Given the description of an element on the screen output the (x, y) to click on. 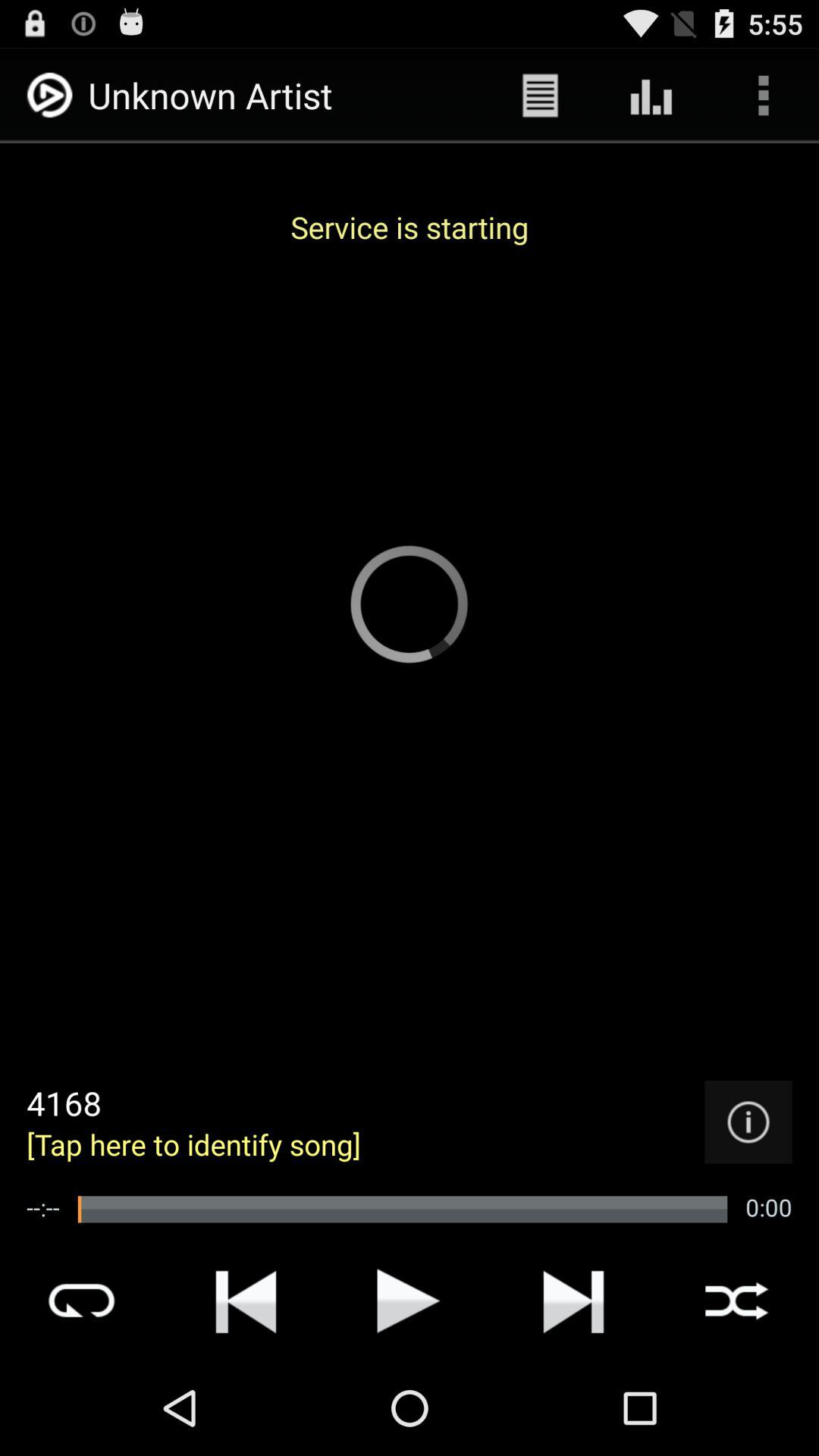
tap the app next to unknown artist app (540, 95)
